Given the description of an element on the screen output the (x, y) to click on. 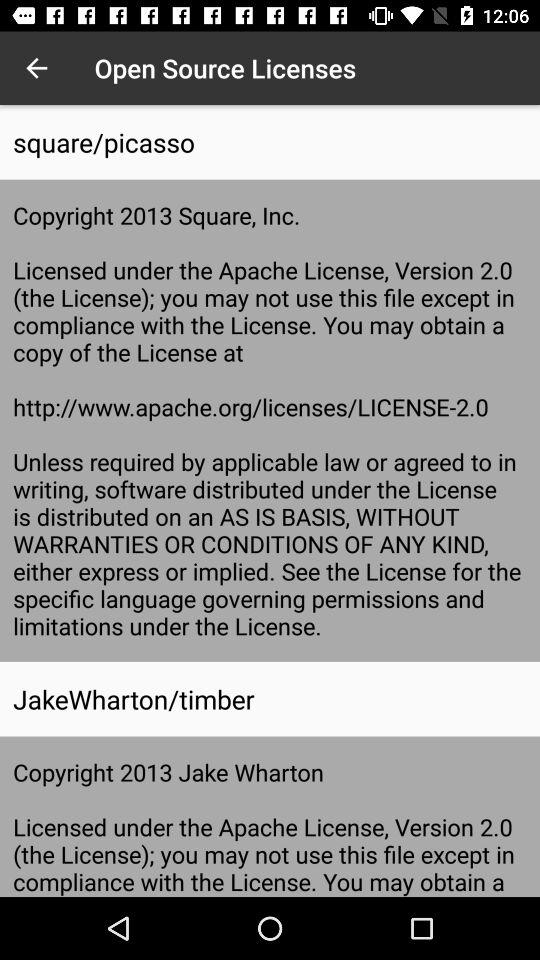
press icon above square/picasso icon (36, 68)
